Given the description of an element on the screen output the (x, y) to click on. 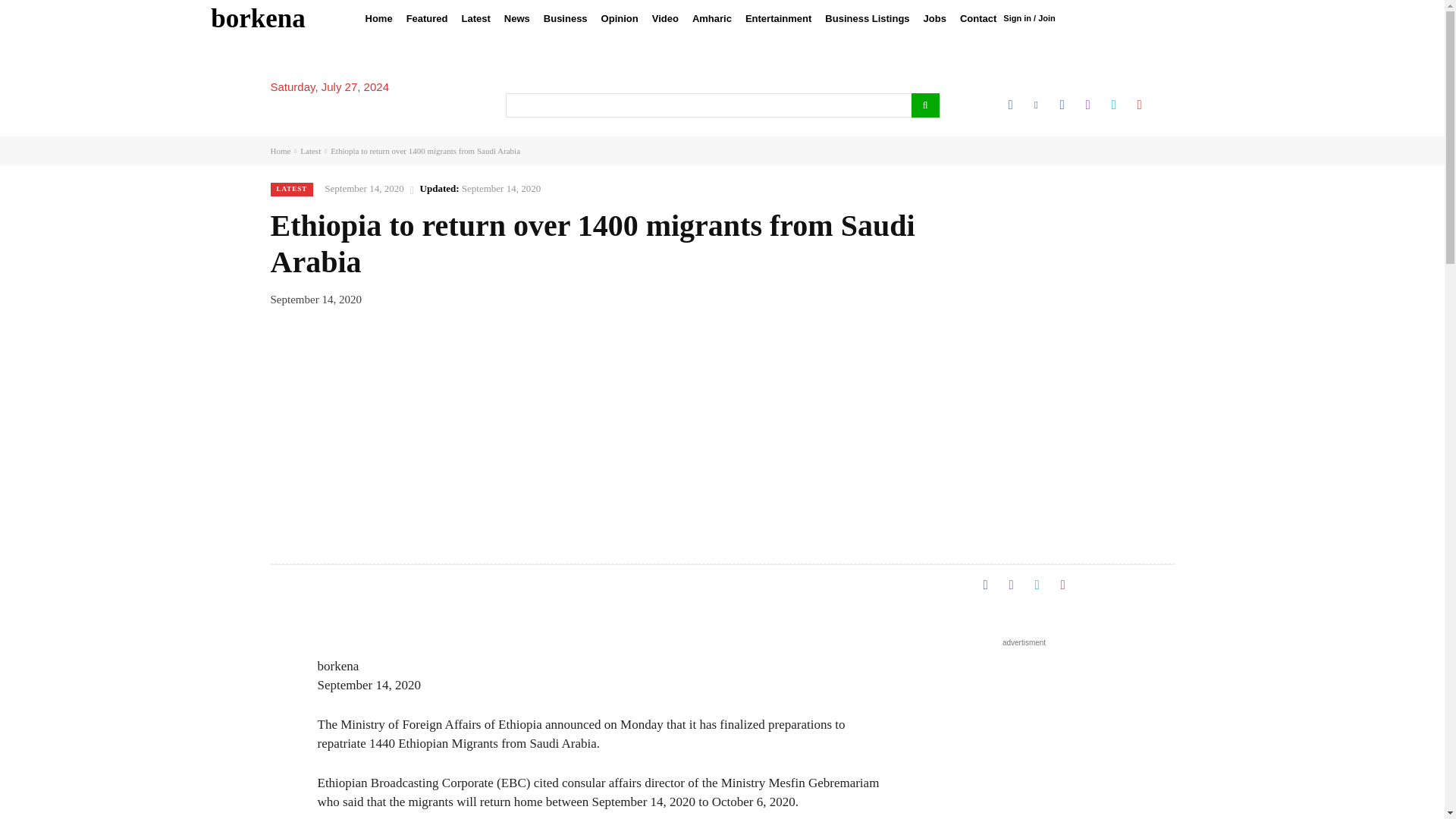
Video (665, 18)
Opinion (619, 18)
News (517, 18)
Jobs (935, 18)
Business (565, 18)
Featured (426, 18)
Entertainment (778, 18)
Business Listings (866, 18)
Ethiopian News and Opinion  (257, 18)
Amharic (711, 18)
Home (378, 18)
Latest (475, 18)
Contact (978, 18)
borkena (257, 18)
